Given the description of an element on the screen output the (x, y) to click on. 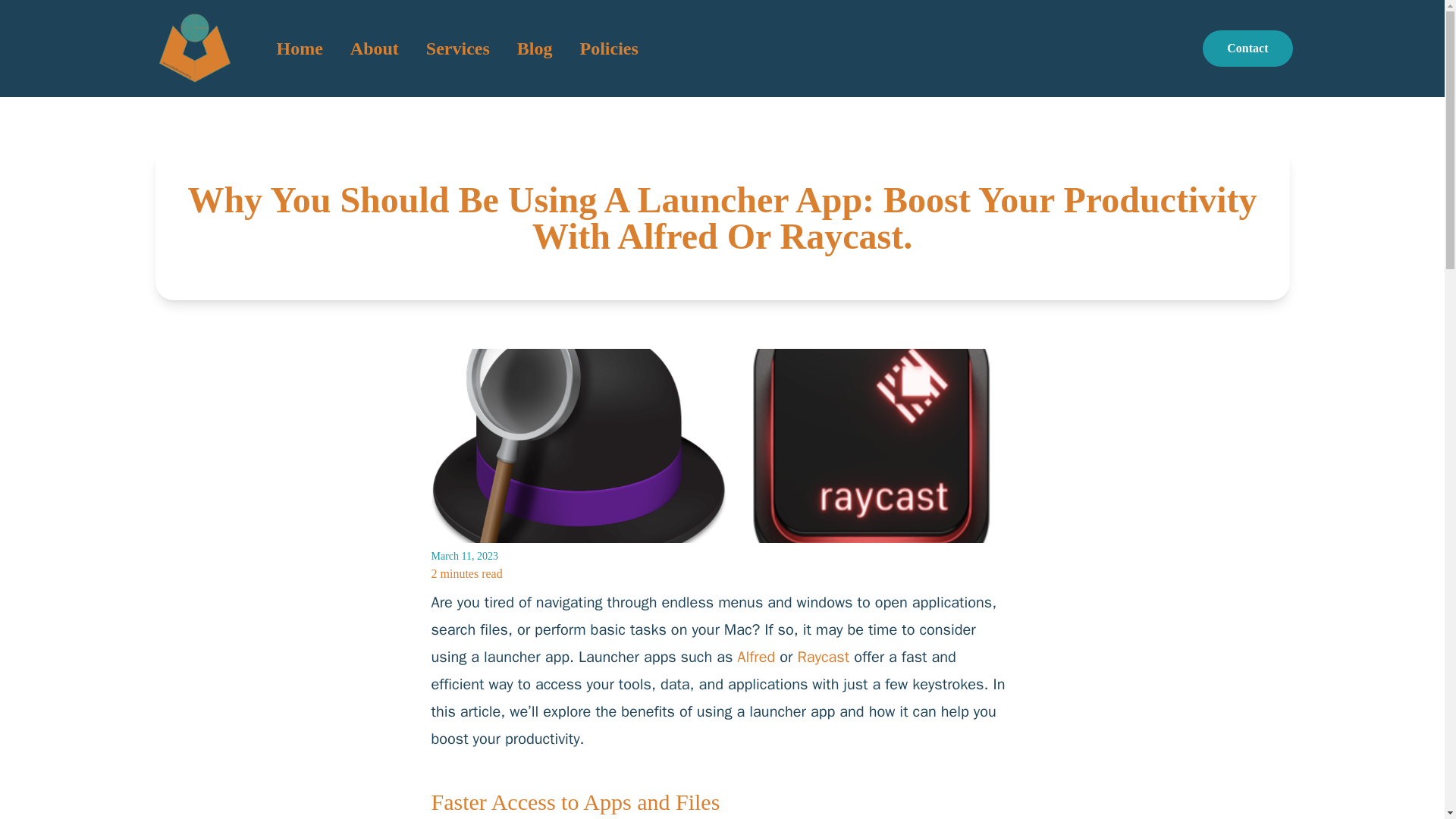
Alfred (755, 656)
Contact (1247, 48)
Services (457, 48)
Blog (534, 48)
Policies (608, 48)
Home (298, 48)
Raycast (822, 656)
About (373, 48)
